Given the description of an element on the screen output the (x, y) to click on. 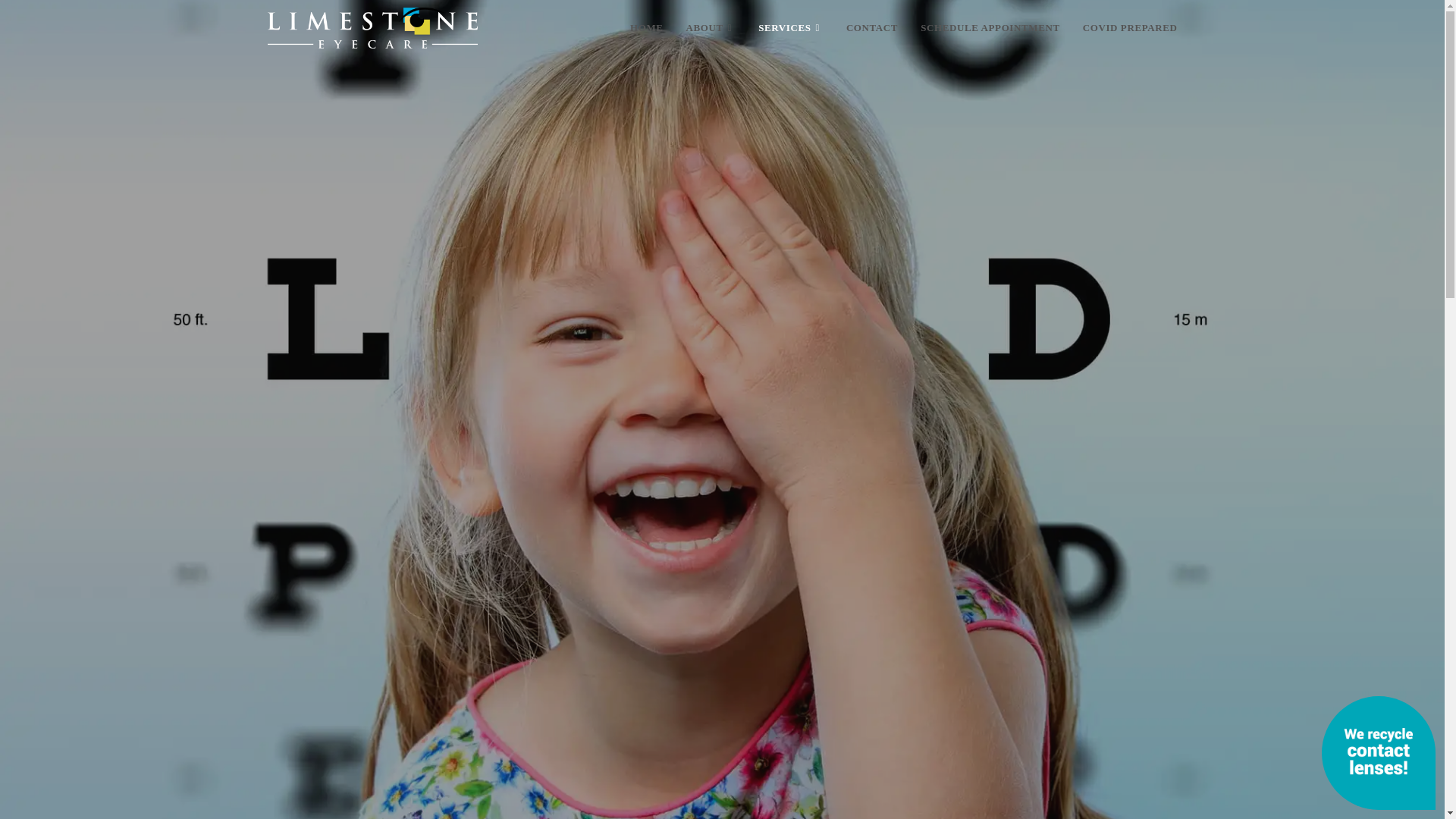
COVID PREPARED (1130, 28)
SERVICES (790, 28)
ABOUT (711, 28)
CONTACT (871, 28)
HOME (646, 28)
SCHEDULE APPOINTMENT (989, 28)
